Given the description of an element on the screen output the (x, y) to click on. 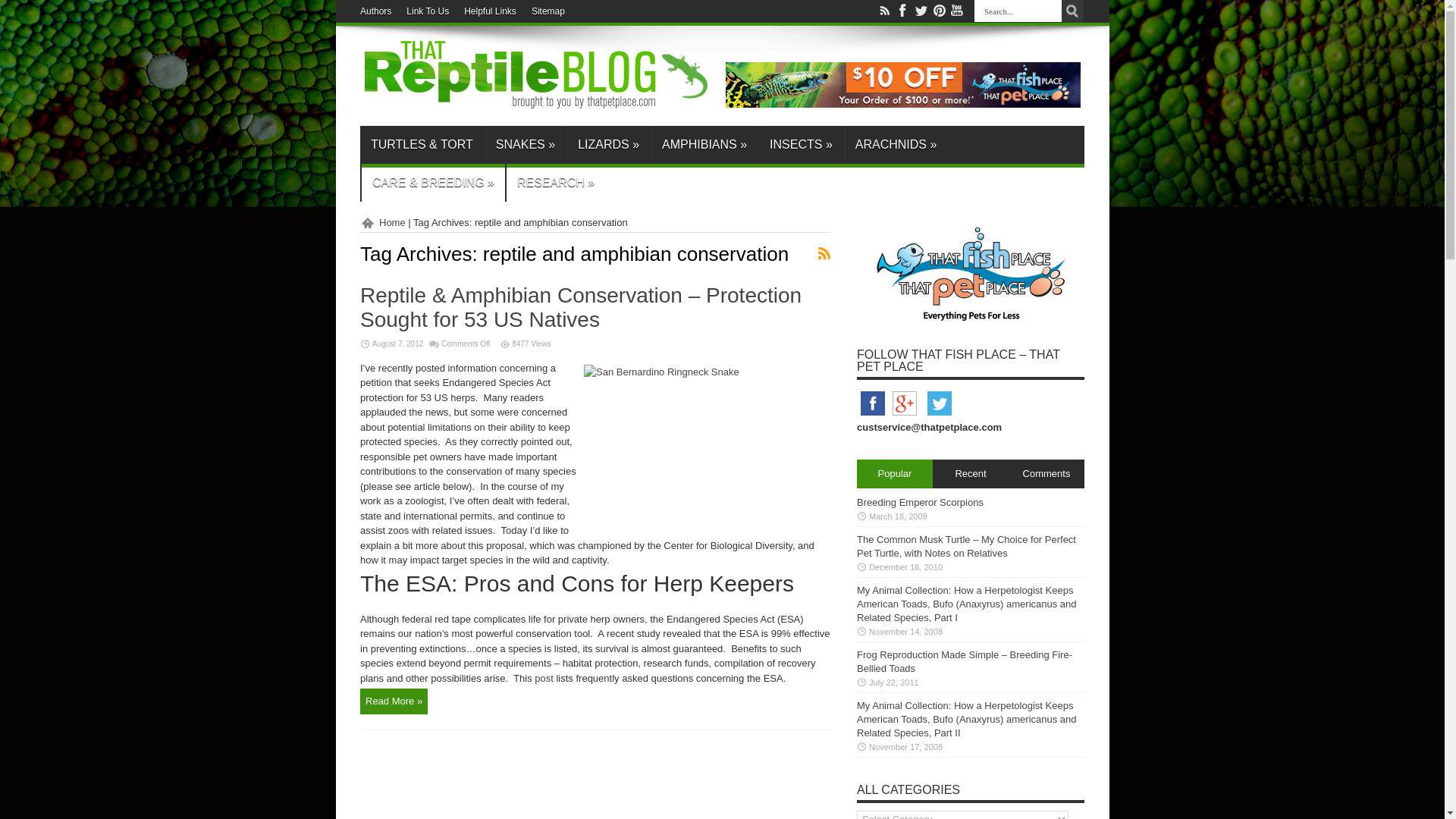
That Reptile Blog (536, 103)
Search (1072, 11)
Breeding Emperor Scorpions (920, 501)
Search... (1017, 11)
Search (1072, 11)
Sitemap (547, 11)
Feed Subscription (823, 253)
Authors (375, 11)
Facebook (872, 415)
